Given the description of an element on the screen output the (x, y) to click on. 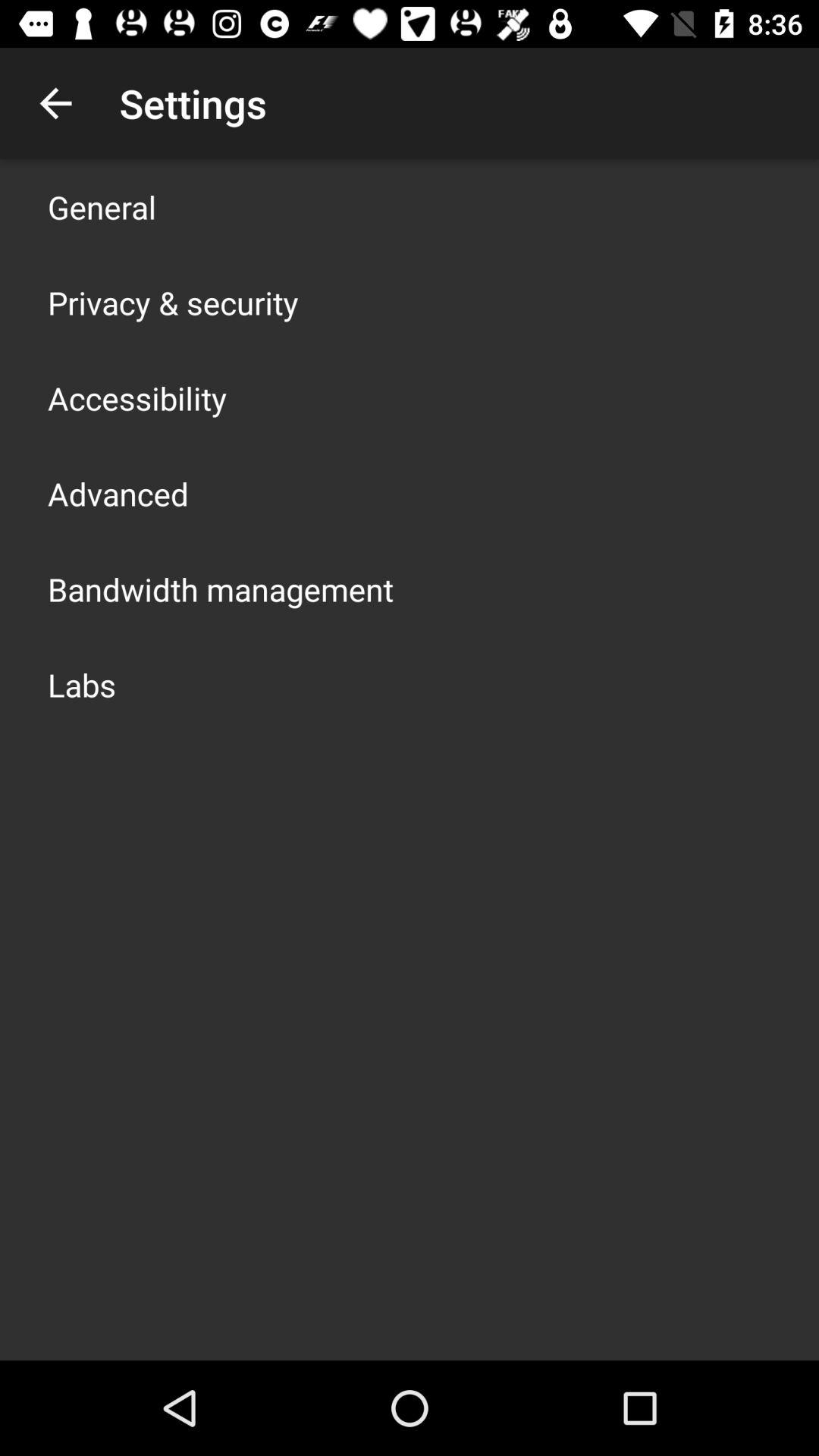
launch the app to the left of the settings item (55, 103)
